Given the description of an element on the screen output the (x, y) to click on. 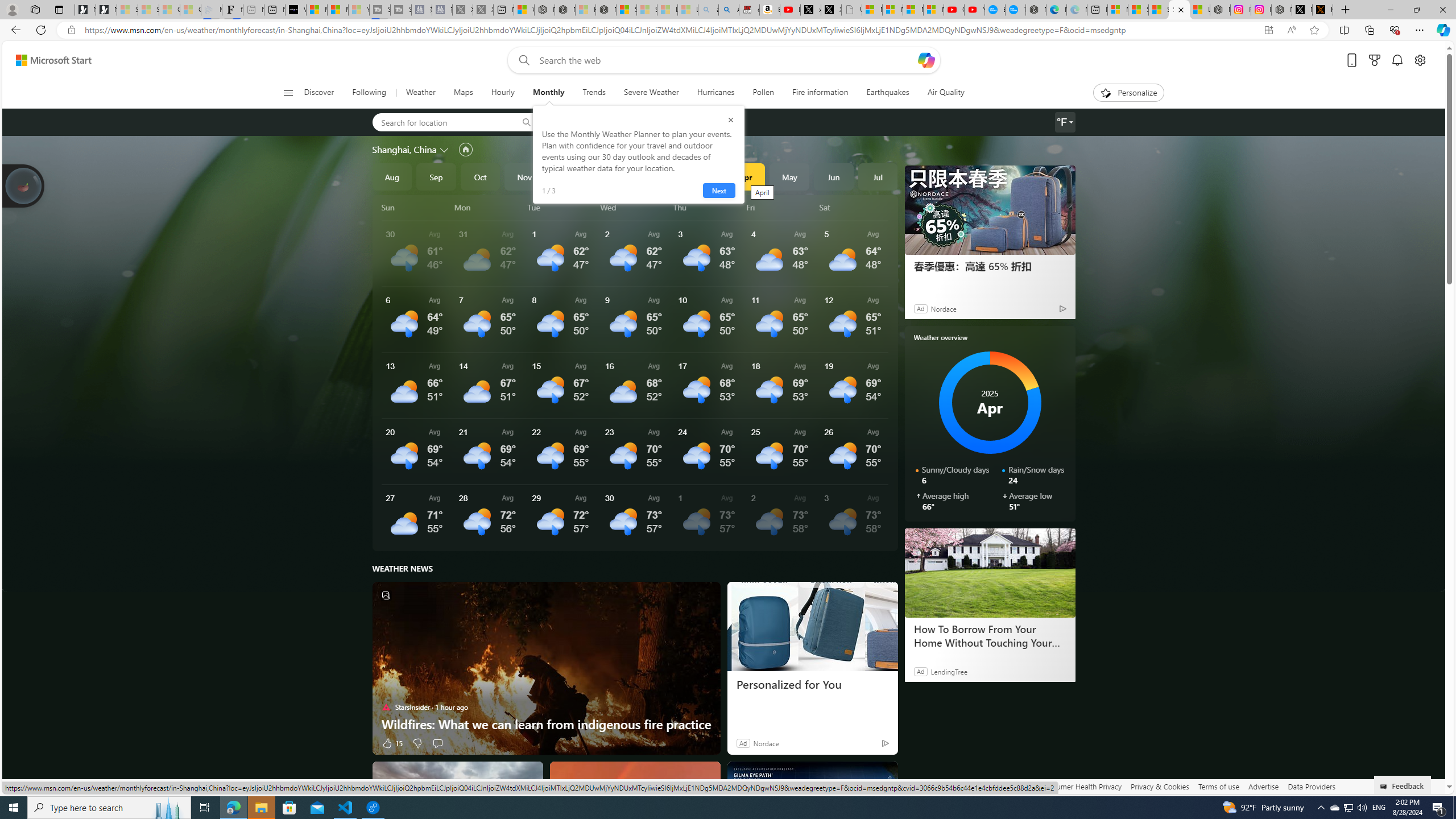
Sat (853, 207)
Shanghai, China hourly forecast | Microsoft Weather (1158, 9)
AutomationID: donut-chart-monthly (990, 402)
2025 Jan (612, 176)
Amazon Echo Dot PNG - Search Images (728, 9)
Search for location (440, 122)
Air Quality (945, 92)
